Given the description of an element on the screen output the (x, y) to click on. 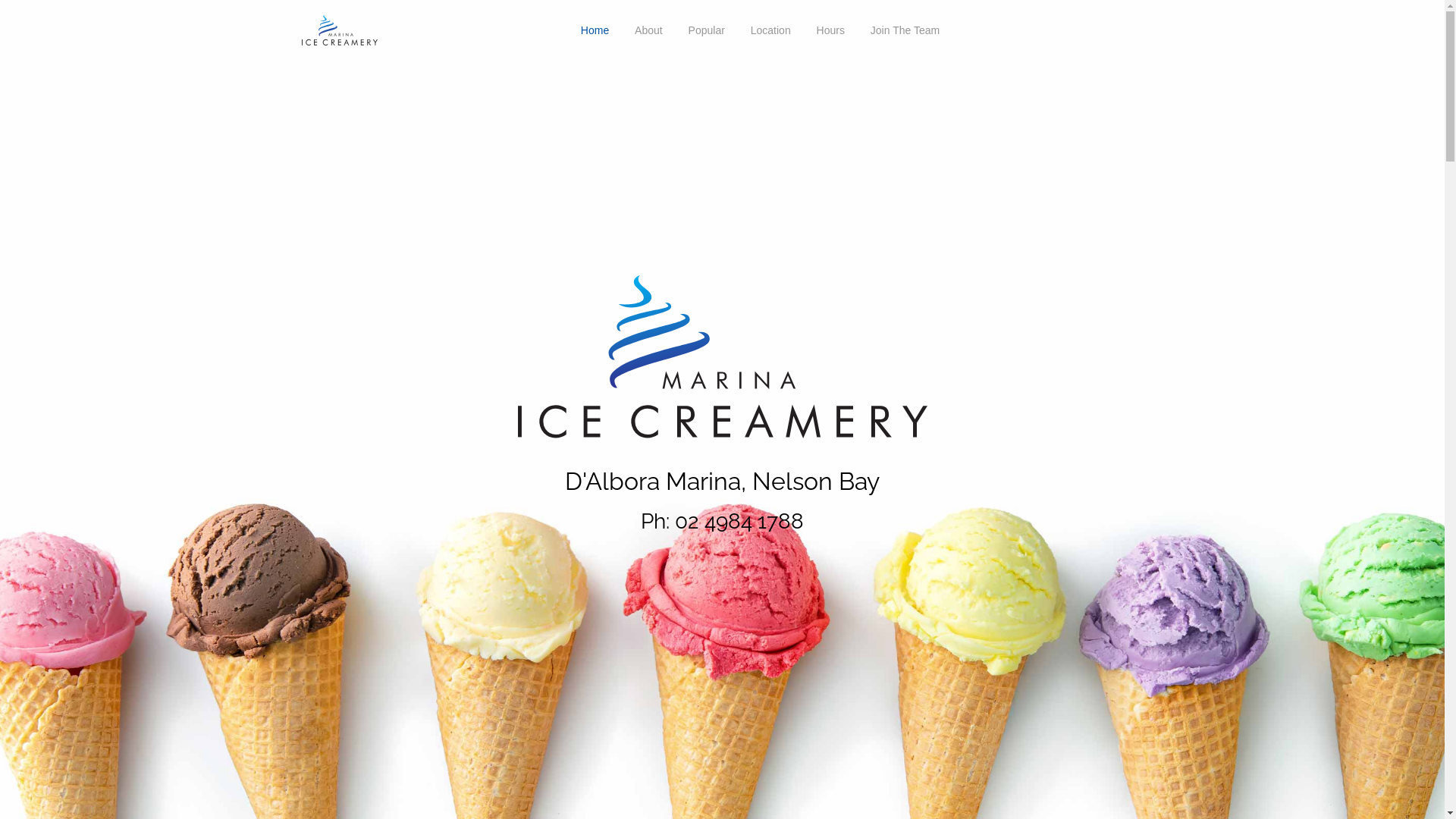
Hours Element type: text (830, 30)
Home Element type: text (594, 30)
About Element type: text (648, 30)
Location Element type: text (770, 30)
Join The Team Element type: text (904, 30)
Popular Element type: text (706, 30)
